Given the description of an element on the screen output the (x, y) to click on. 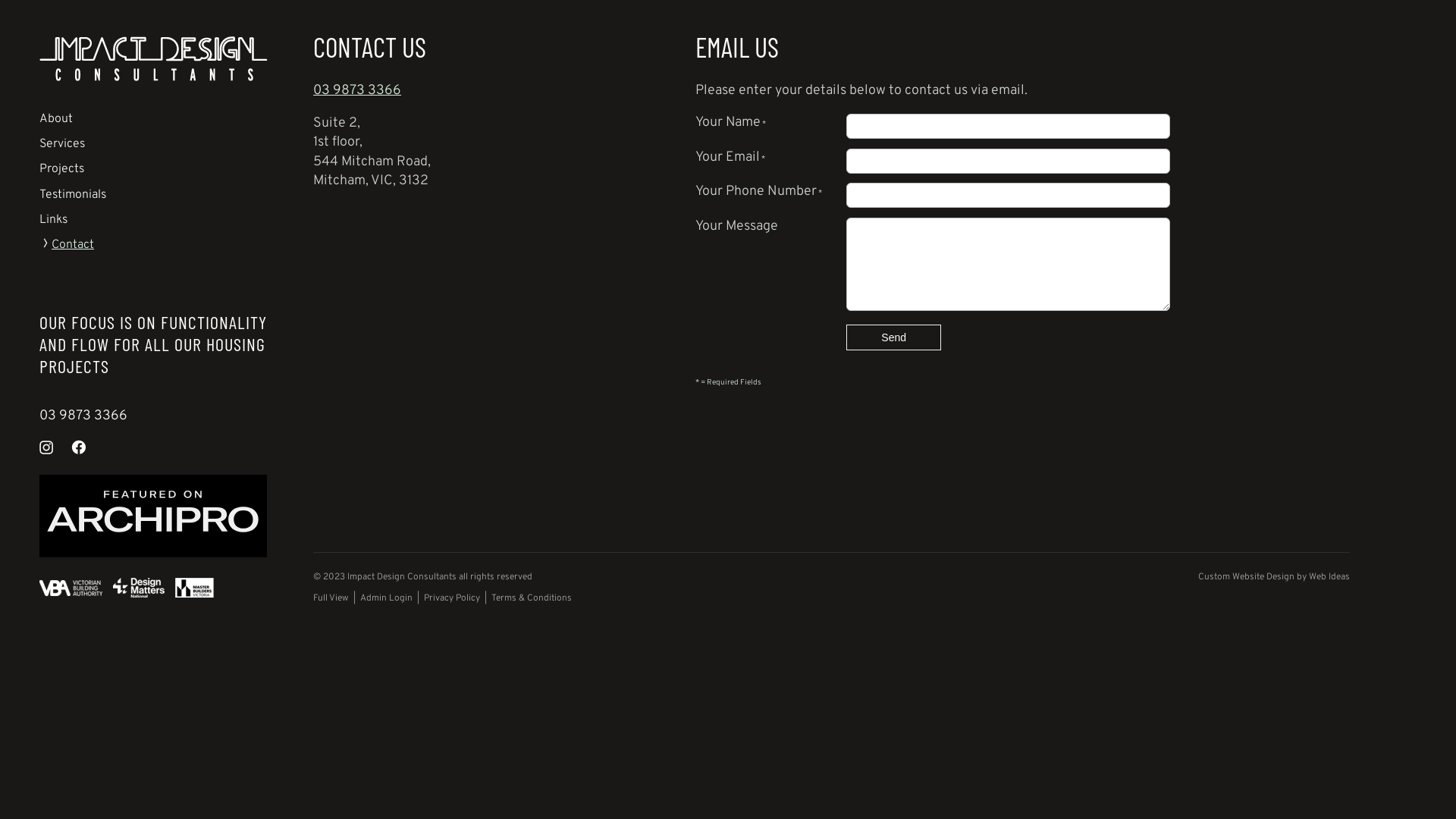
03 9873 3366 Element type: text (83, 415)
Projects Element type: text (61, 168)
Links Element type: text (53, 219)
Full View Element type: text (330, 598)
Privacy Policy Element type: text (451, 598)
Terms & Conditions Element type: text (531, 598)
Web Ideas Element type: text (1328, 577)
Send Element type: text (893, 337)
Custom Website Design Element type: text (1246, 577)
Send Element type: hover (893, 337)
Testimonials Element type: text (72, 194)
03 9873 3366 Element type: text (357, 90)
Admin Login Element type: text (386, 598)
Services Element type: text (61, 143)
Contact Element type: text (66, 244)
About Element type: text (55, 118)
